Given the description of an element on the screen output the (x, y) to click on. 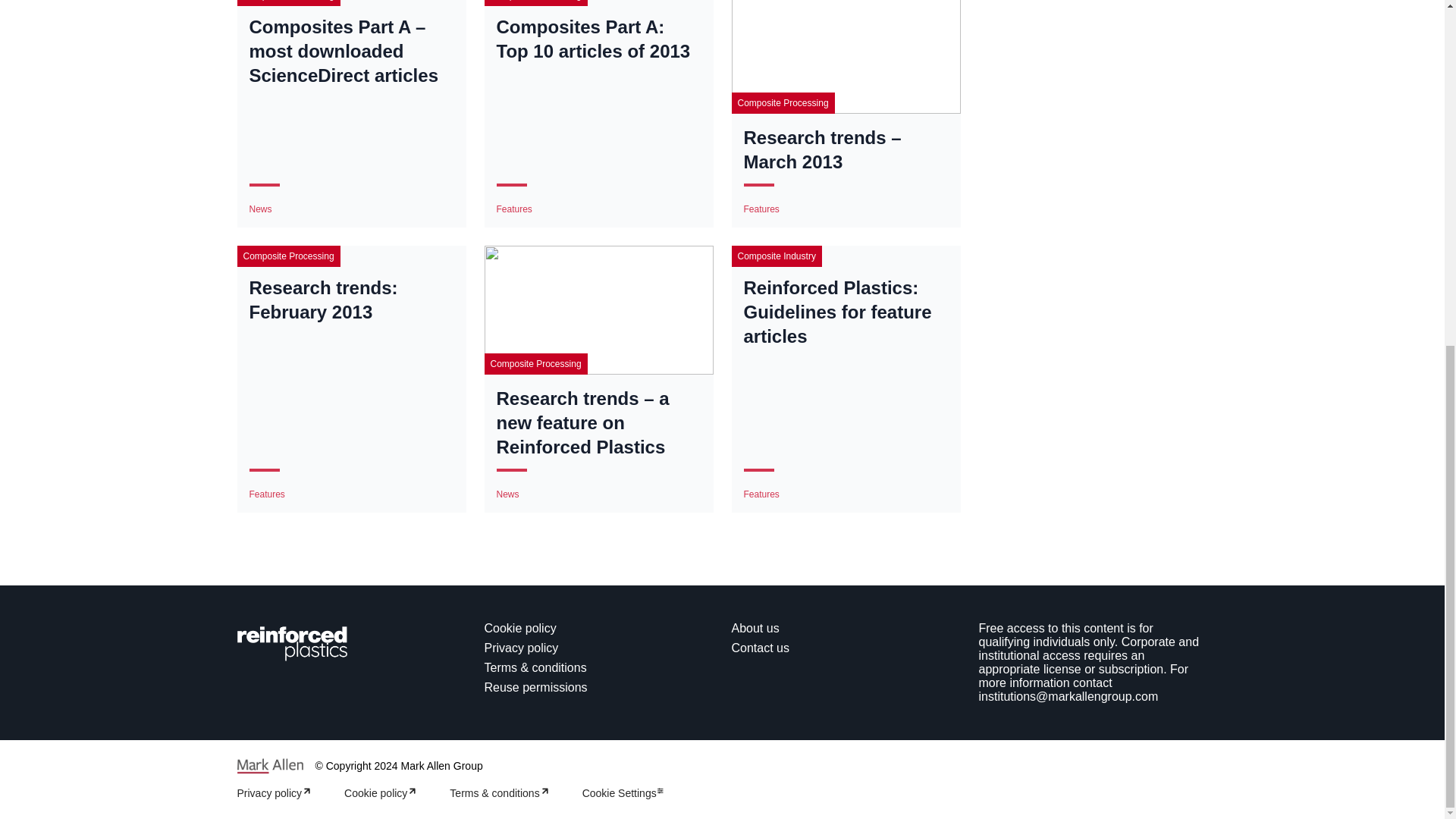
News (259, 208)
Features (760, 208)
Research trends: February 2013 (350, 300)
Features (265, 493)
Composites Part A: Top 10 articles of 2013 (598, 39)
Features (513, 208)
